Given the description of an element on the screen output the (x, y) to click on. 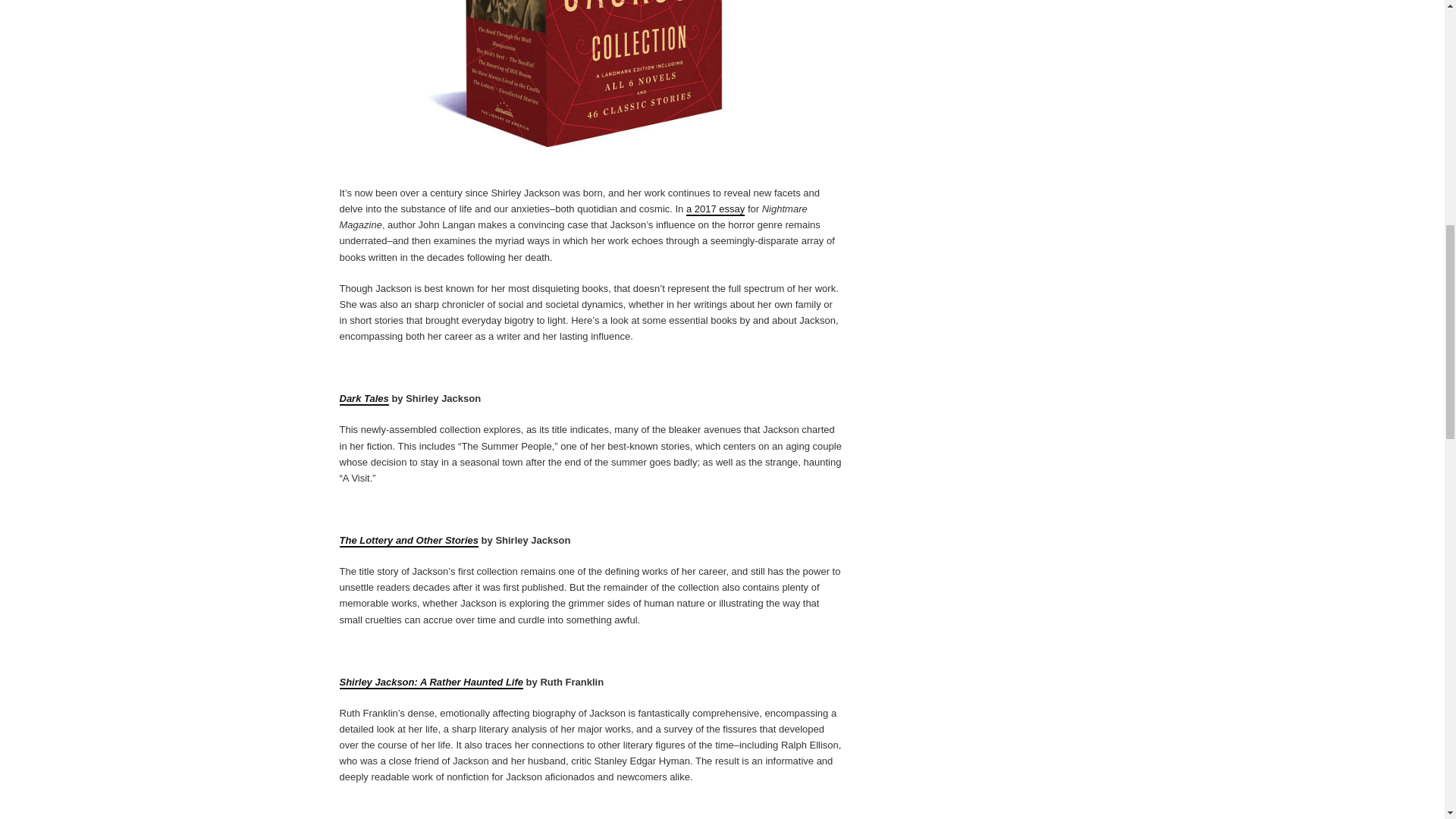
a 2017 essay (714, 209)
Dark Tales (363, 399)
The Lottery and Other Stories (409, 540)
Shirley Jackson: A Rather Haunted Life (431, 682)
